Given the description of an element on the screen output the (x, y) to click on. 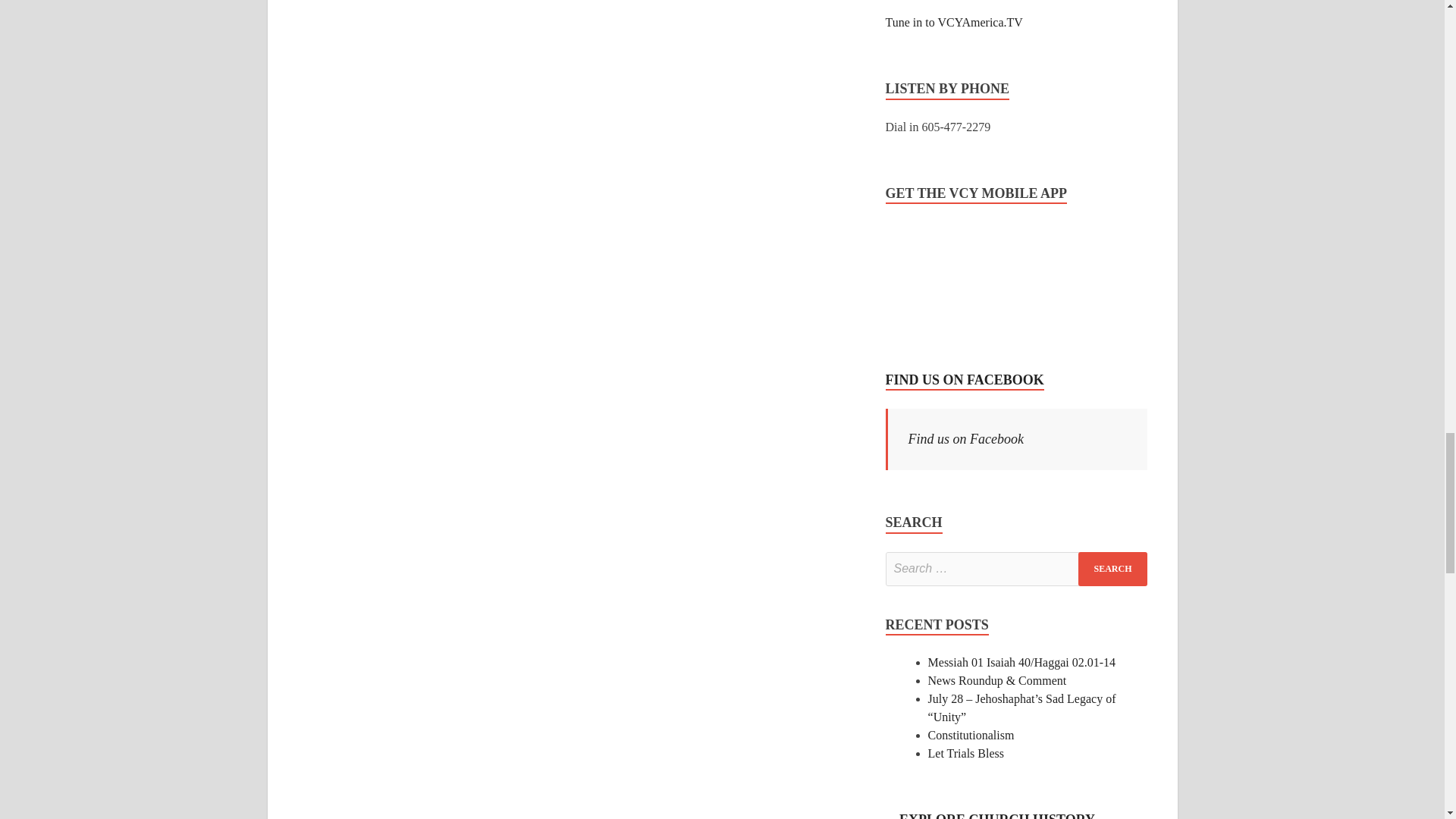
Search (1112, 569)
Search (1112, 569)
Get the VCY Mobile App (941, 278)
Comment Form (575, 118)
